Given the description of an element on the screen output the (x, y) to click on. 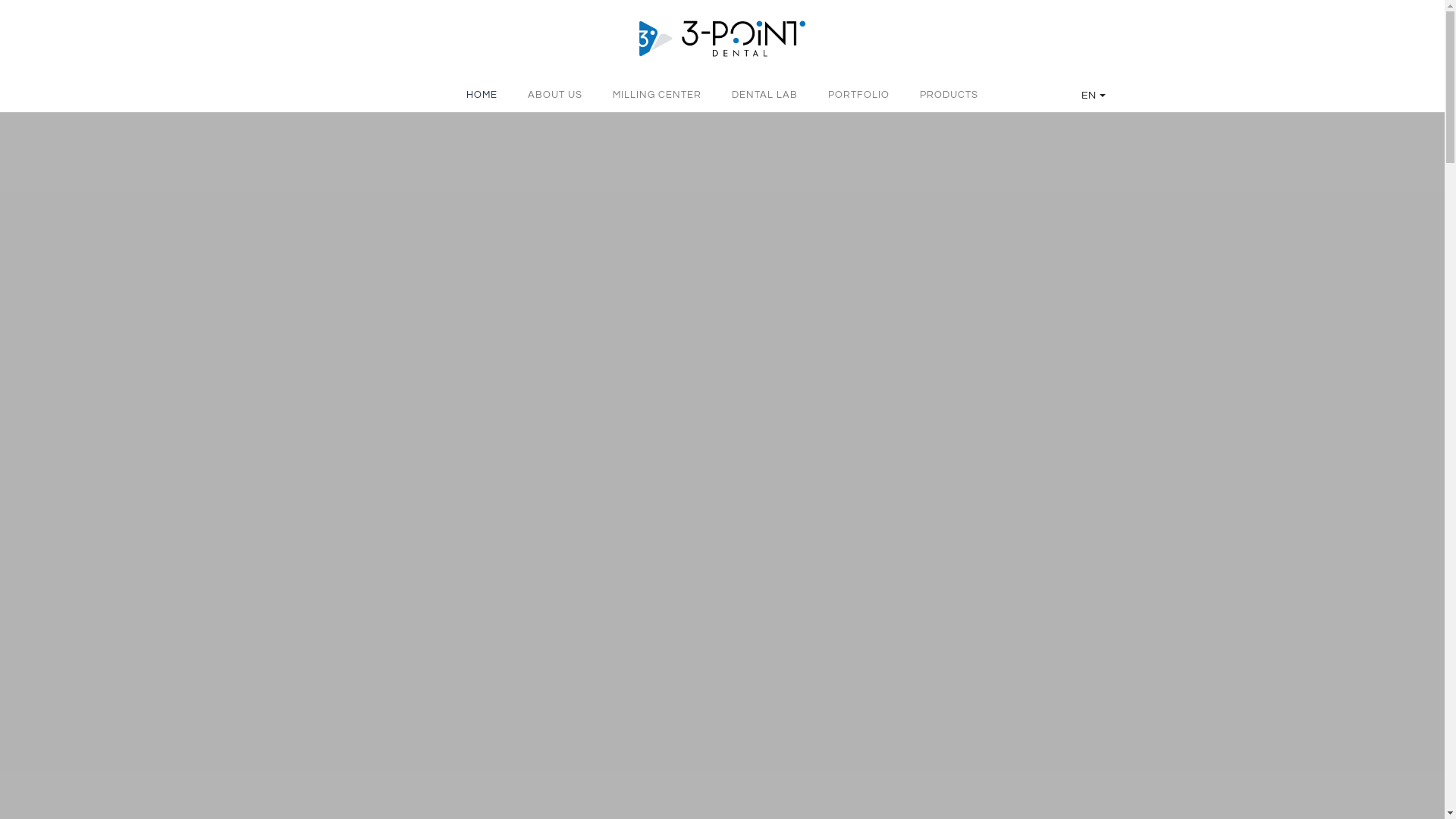
ABOUT US Element type: text (554, 94)
PORTFOLIO Element type: text (858, 94)
MILLING CENTER Element type: text (656, 94)
DENTAL LAB Element type: text (764, 94)
EN Element type: text (1093, 95)
HOME Element type: text (481, 94)
Site logo Element type: text (721, 37)
PRODUCTS Element type: text (948, 94)
